Given the description of an element on the screen output the (x, y) to click on. 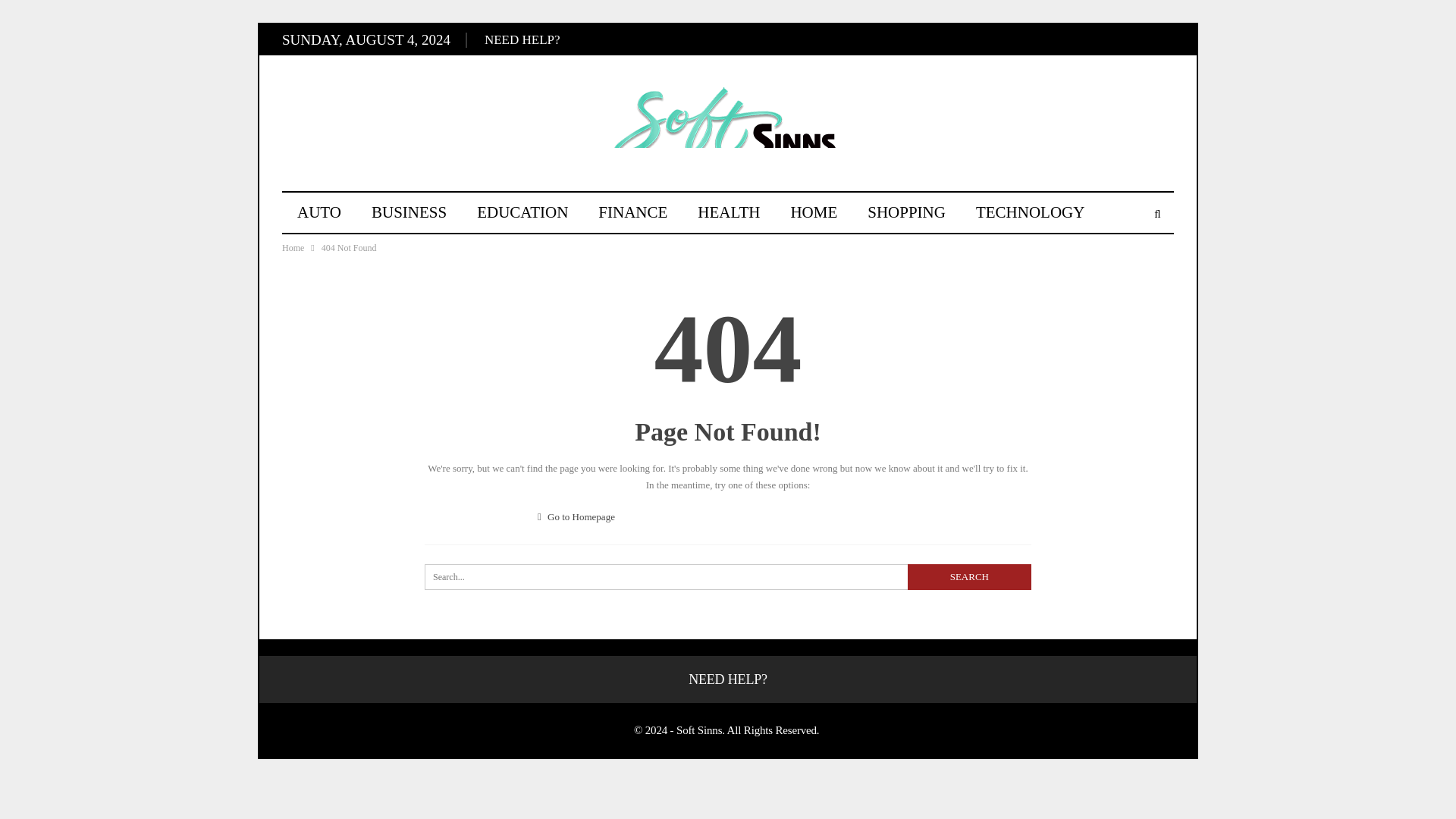
TECHNOLOGY (1029, 211)
TRAVEL (327, 251)
Go to Homepage (575, 516)
FINANCE (632, 211)
HOME (812, 211)
NEED HELP? (522, 39)
SHOPPING (905, 211)
Search for: (727, 576)
EDUCATION (522, 211)
HEALTH (728, 211)
